Given the description of an element on the screen output the (x, y) to click on. 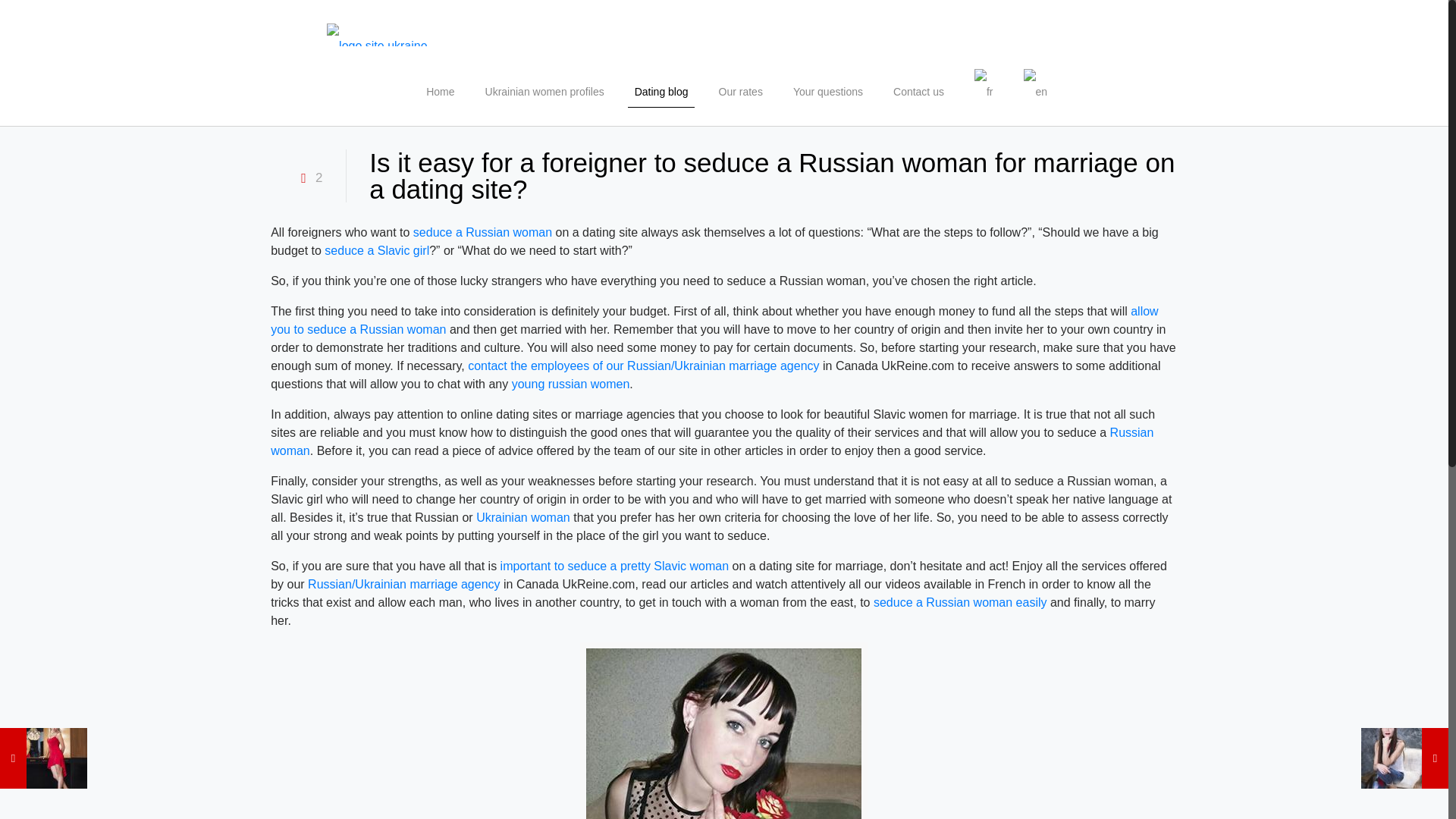
Dating blog (661, 91)
seduce a Russian woman easily (959, 602)
Contact us (918, 91)
Ukrainian women profiles (545, 91)
Russian woman (711, 441)
Ukrainian woman (523, 517)
seduce a Russian woman (482, 232)
Your questions (827, 91)
young russian women (571, 383)
important to seduce a pretty Slavic woman (614, 565)
Our rates (740, 91)
2 (307, 178)
seduce a Slavic girl (376, 250)
allow you to seduce a Russian woman (713, 319)
